Given the description of an element on the screen output the (x, y) to click on. 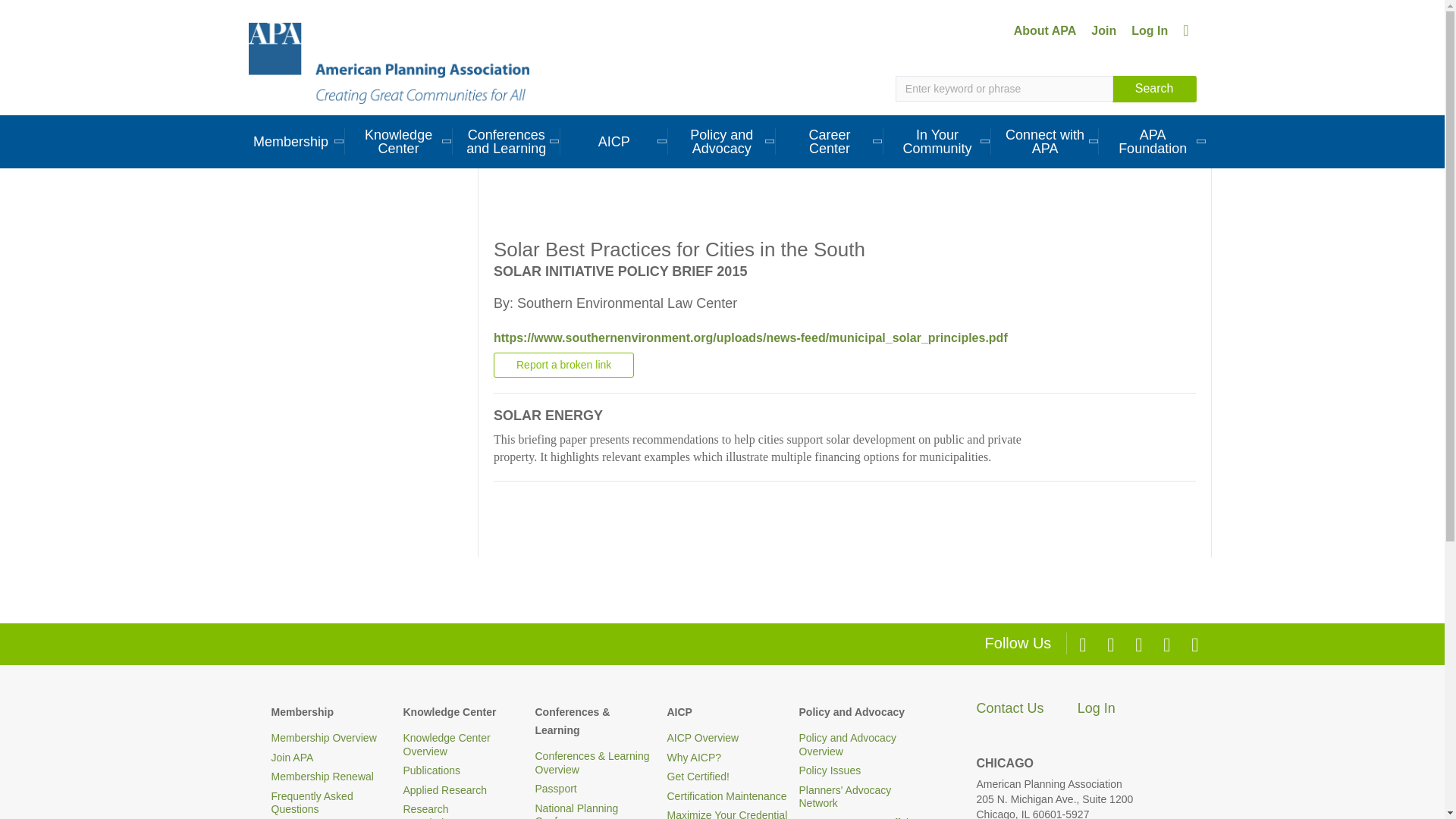
Log In (1149, 30)
APA Foundation (1153, 141)
Join (1103, 30)
Policy and Advocacy (722, 141)
Career Center (829, 141)
Knowledge Center (398, 141)
AICP (614, 141)
Join (1103, 30)
Conferences and Learning (506, 141)
APA Home (388, 62)
